Given the description of an element on the screen output the (x, y) to click on. 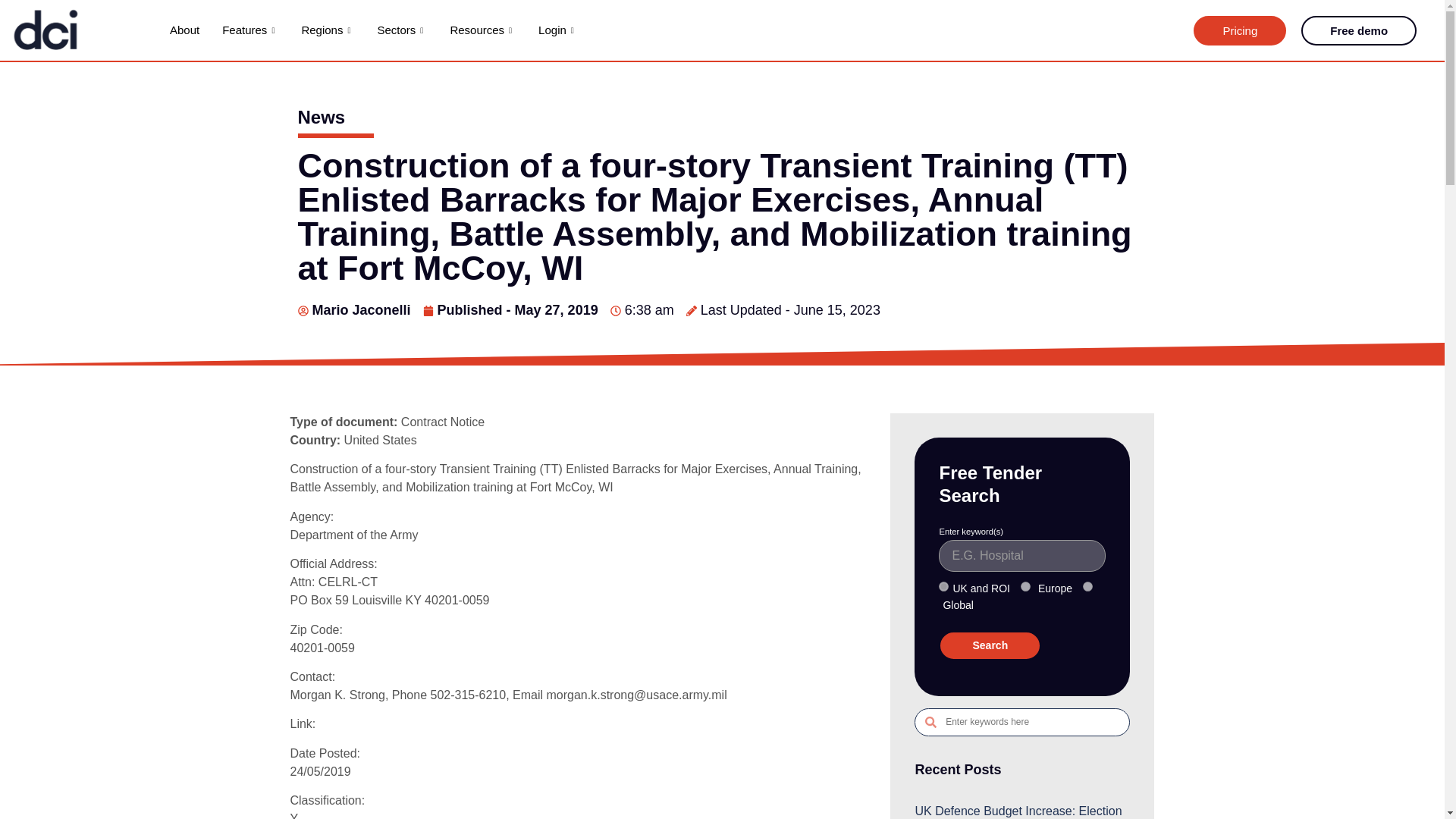
Features (250, 30)
E.G. Hospital (1022, 555)
GBandIE (944, 586)
Global (1088, 586)
Search (990, 645)
E.G. Hospital (1022, 555)
Regions (327, 30)
Europe (1025, 586)
